Given the description of an element on the screen output the (x, y) to click on. 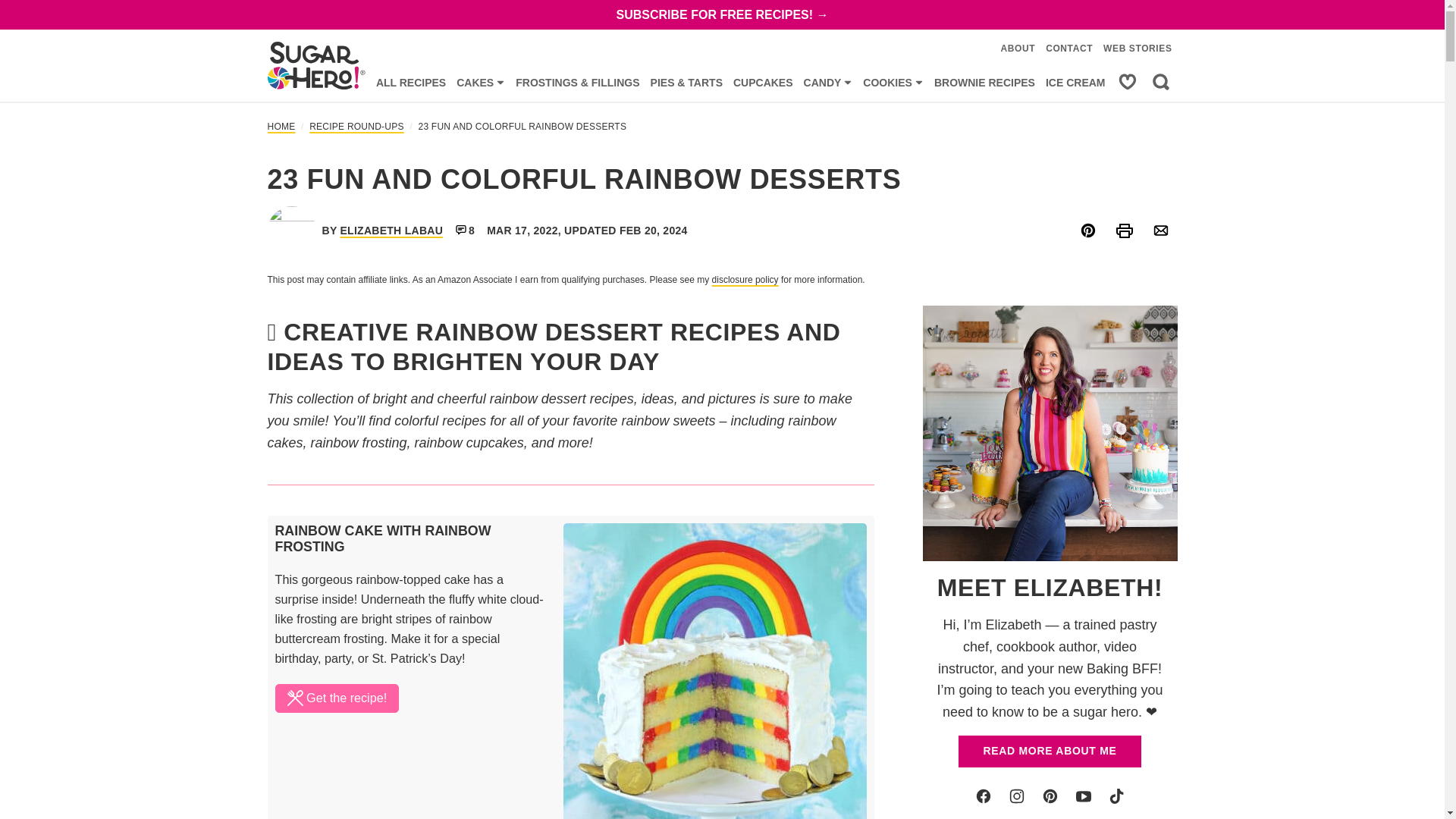
CAKES (481, 82)
WEB STORIES (1136, 48)
Share on Pinterest (1086, 230)
COOKIES (892, 82)
Print (1123, 230)
Pin (1086, 230)
HOME (280, 126)
CONTACT (1069, 48)
ALL RECIPES (411, 82)
BROWNIE RECIPES (984, 82)
